Given the description of an element on the screen output the (x, y) to click on. 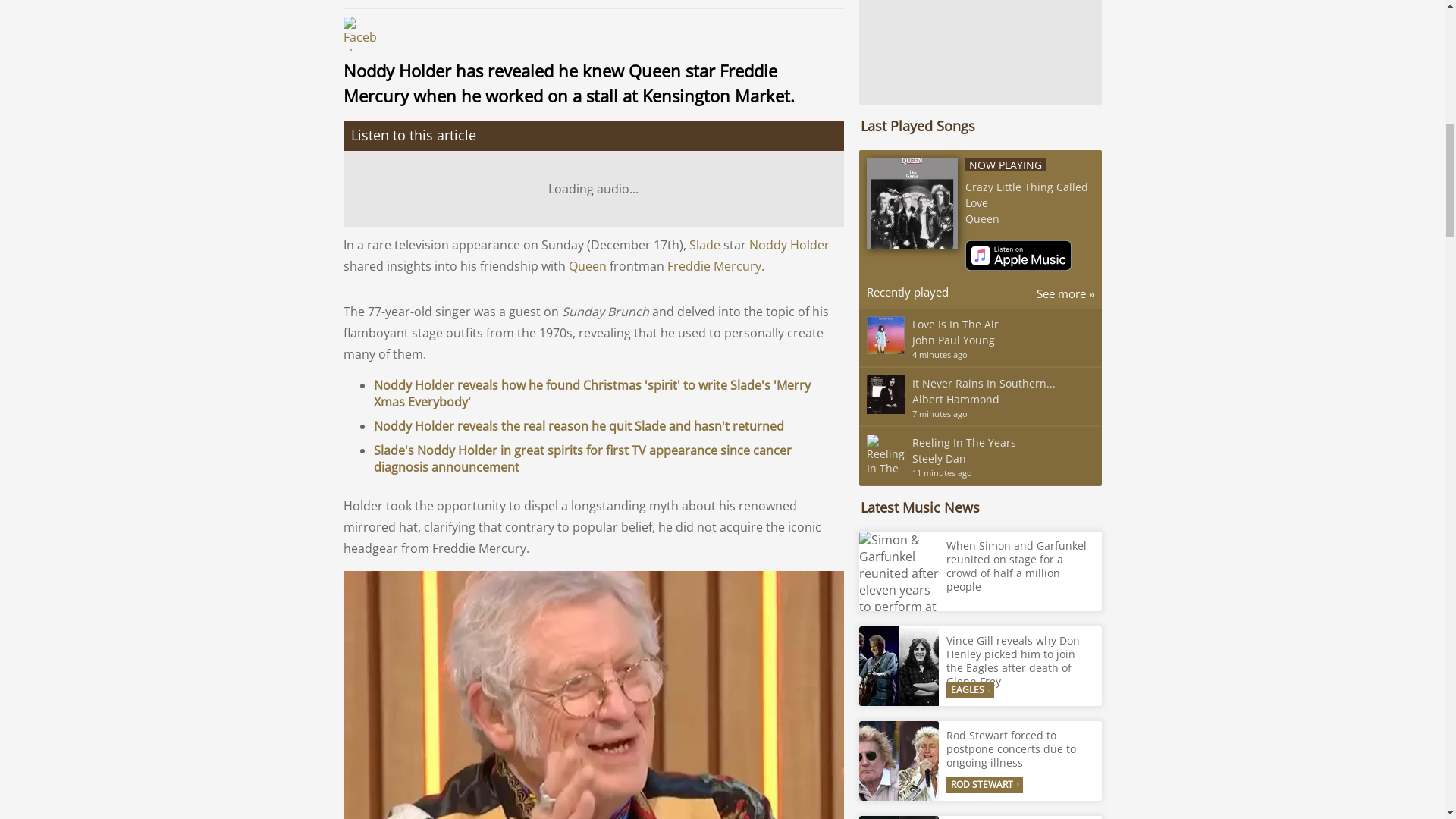
Slade (703, 244)
Freddie Mercury (713, 265)
Queen (588, 265)
Noddy Holder (789, 244)
